Given the description of an element on the screen output the (x, y) to click on. 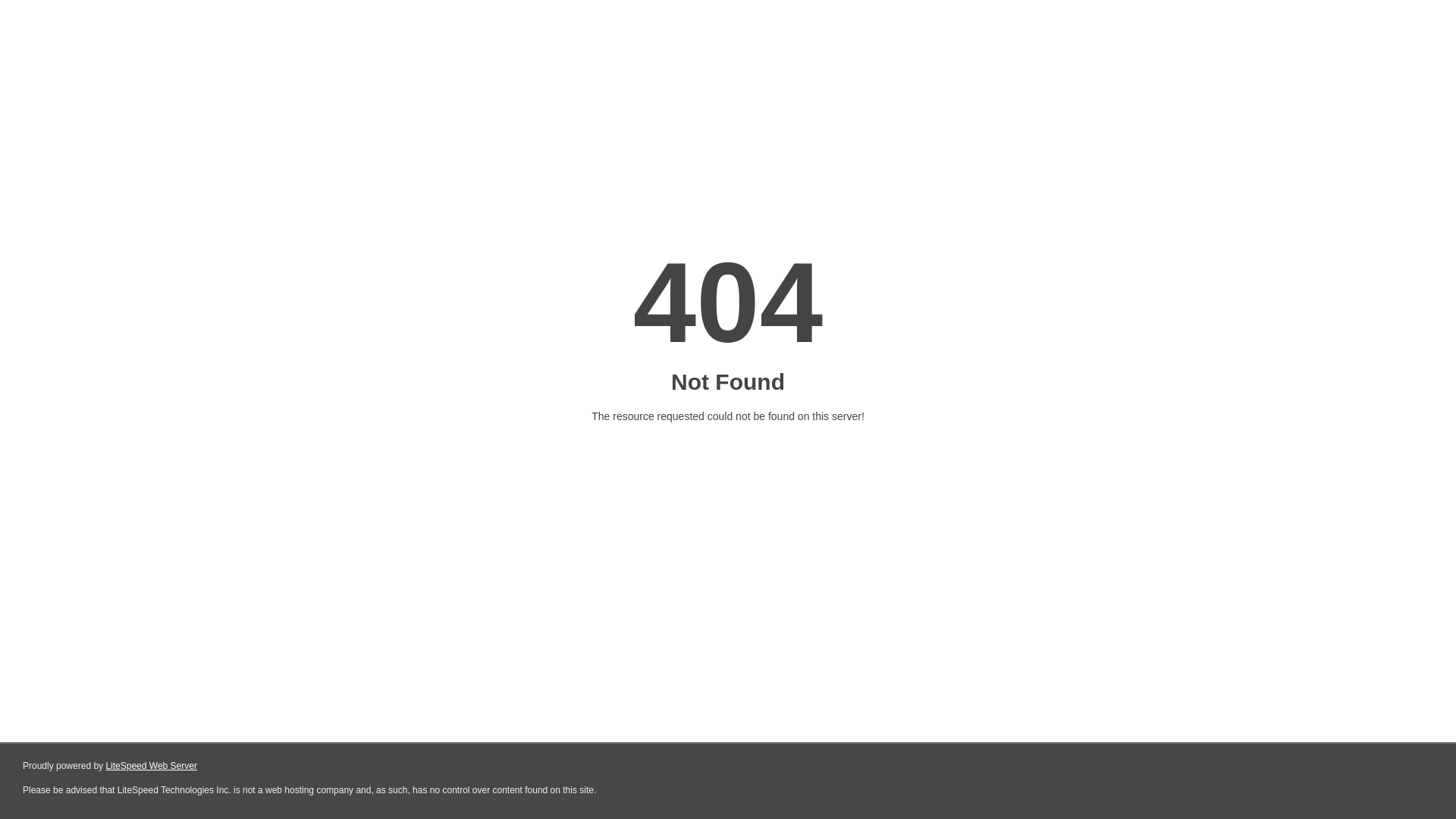
LiteSpeed Web Server Element type: text (151, 765)
